Given the description of an element on the screen output the (x, y) to click on. 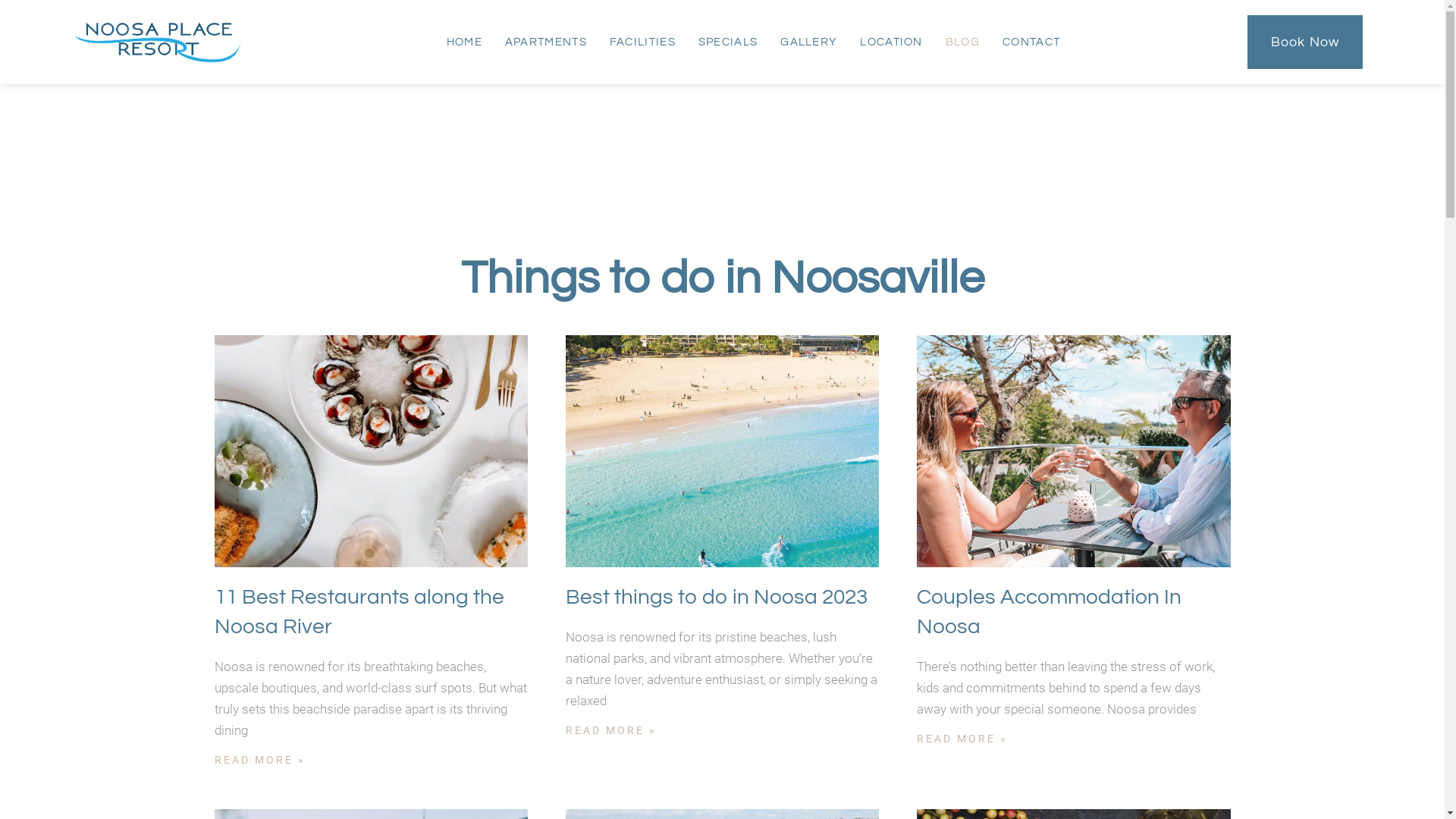
CONTACT Element type: text (1031, 42)
APARTMENTS Element type: text (545, 42)
GALLERY Element type: text (808, 42)
BLOG Element type: text (962, 42)
Book Now Element type: text (1305, 42)
HOME Element type: text (464, 42)
11 Best Restaurants along the Noosa River Element type: text (358, 611)
SPECIALS Element type: text (727, 42)
Couples Accommodation In Noosa Element type: text (1048, 611)
FACILITIES Element type: text (642, 42)
LOCATION Element type: text (890, 42)
Best things to do in Noosa 2023 Element type: text (716, 597)
